Given the description of an element on the screen output the (x, y) to click on. 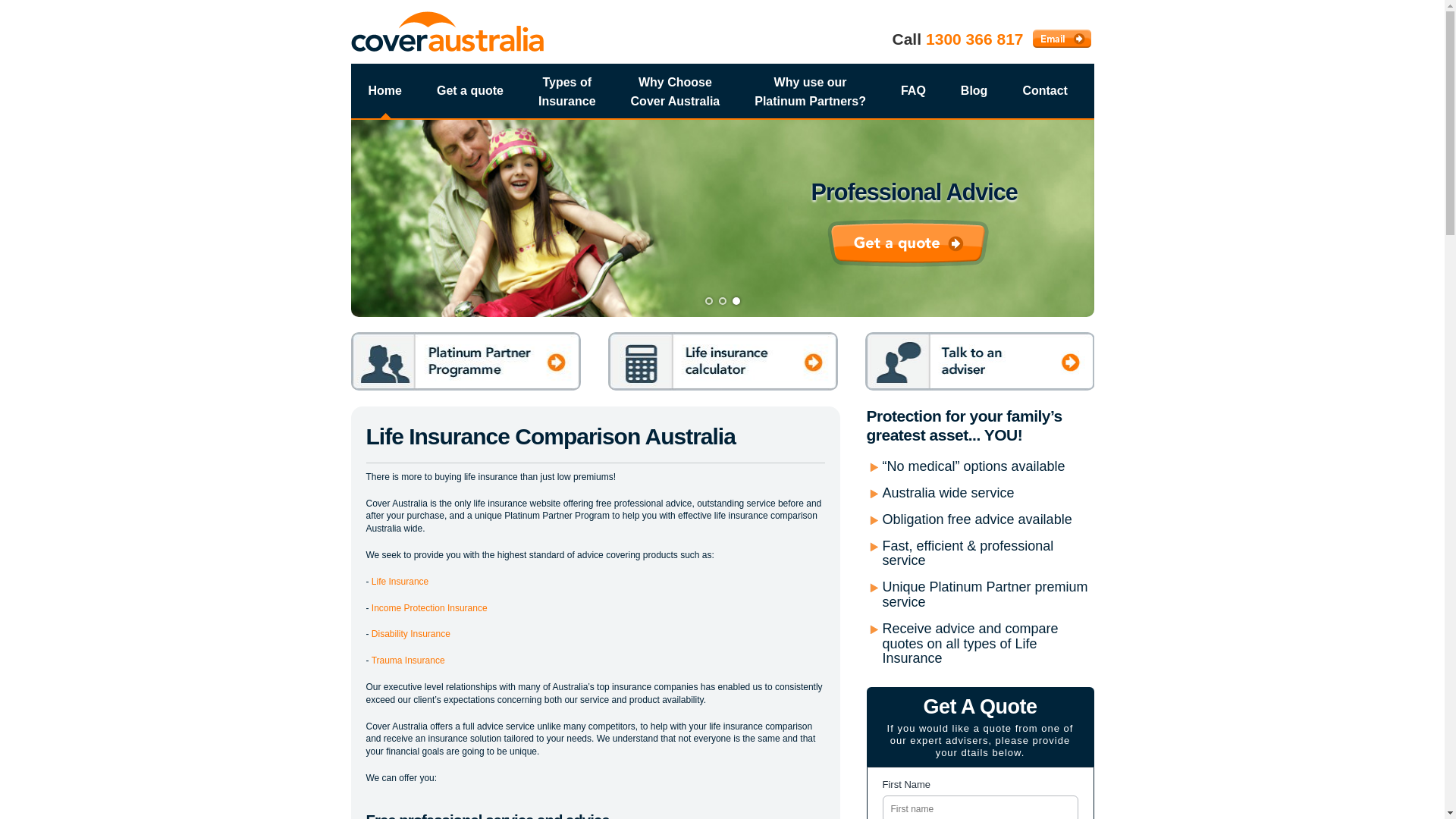
Email Cover Australia Element type: text (1061, 38)
Home Element type: text (384, 91)
Income Protection Insurance Element type: text (429, 607)
1300 366 817 Element type: text (973, 38)
Why use our
Platinum Partners? Element type: text (810, 96)
Why Choose
Cover Australia Element type: text (675, 96)
Get a quote Element type: text (469, 91)
FAQ Element type: text (913, 91)
Life Insurance Element type: text (399, 581)
Contact Element type: text (1044, 91)
Types of
Insurance Element type: text (566, 96)
Trauma Insurance Element type: text (408, 660)
Blog Element type: text (974, 91)
Disability Insurance Element type: text (410, 633)
